Given the description of an element on the screen output the (x, y) to click on. 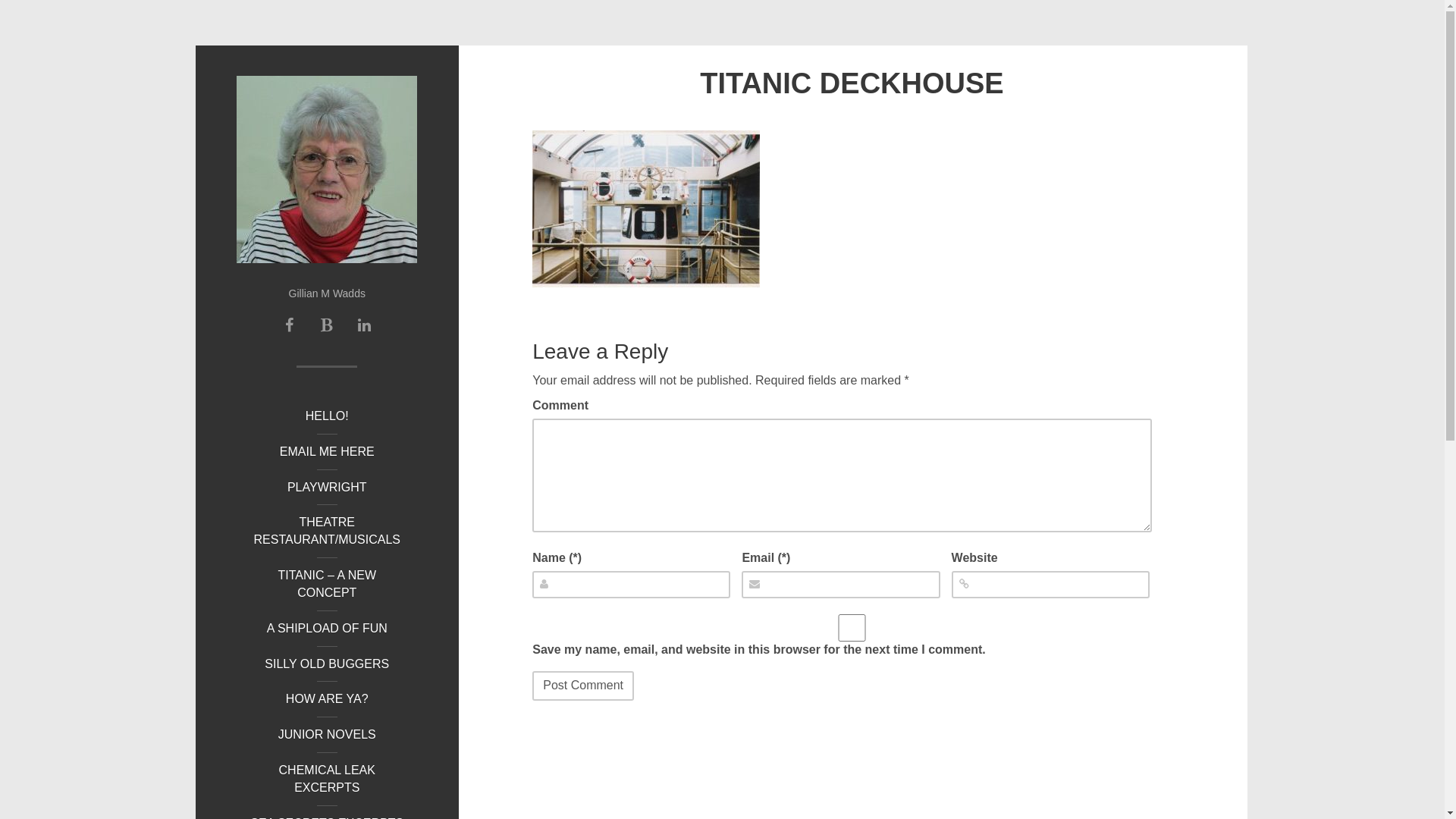
Post Comment Element type: text (582, 685)
JUNIOR NOVELS Element type: text (326, 735)
HELLO! Element type: text (326, 416)
CHEMICAL LEAK EXCERPTS Element type: text (326, 779)
SILLY OLD BUGGERS Element type: text (326, 664)
THEATRE RESTAURANT/MUSICALS Element type: text (326, 531)
EMAIL ME HERE Element type: text (326, 452)
A SHIPLOAD OF FUN Element type: text (326, 628)
HOW ARE YA? Element type: text (326, 699)
PLAYWRIGHT Element type: text (326, 487)
